Given the description of an element on the screen output the (x, y) to click on. 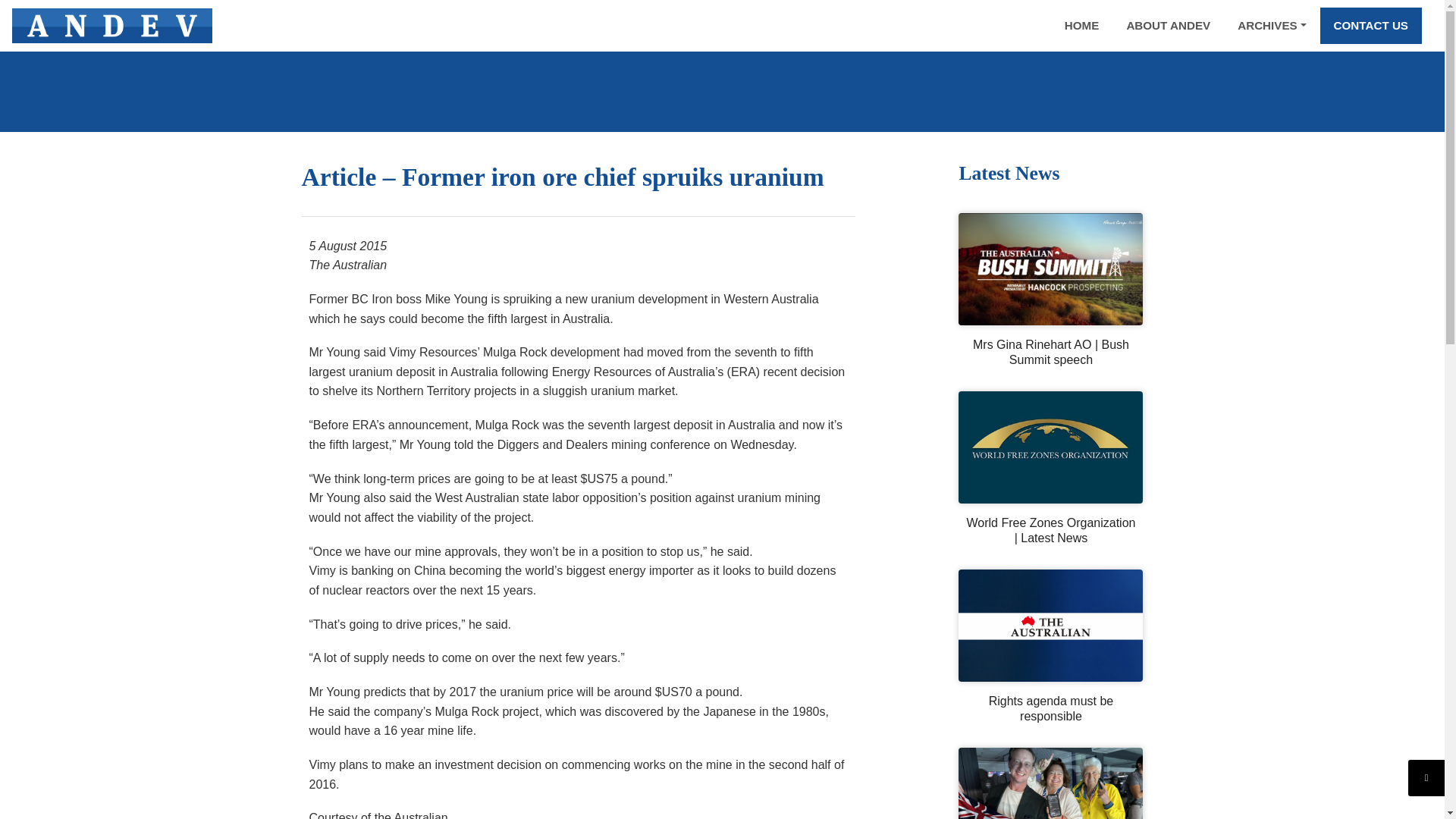
CONTACT US (1371, 25)
HOME (1082, 25)
Archives (1271, 25)
Home (1082, 25)
Rights agenda must be responsible (1050, 708)
About ANDEV (1168, 25)
ARCHIVES (1271, 25)
ABOUT ANDEV (1168, 25)
